Given the description of an element on the screen output the (x, y) to click on. 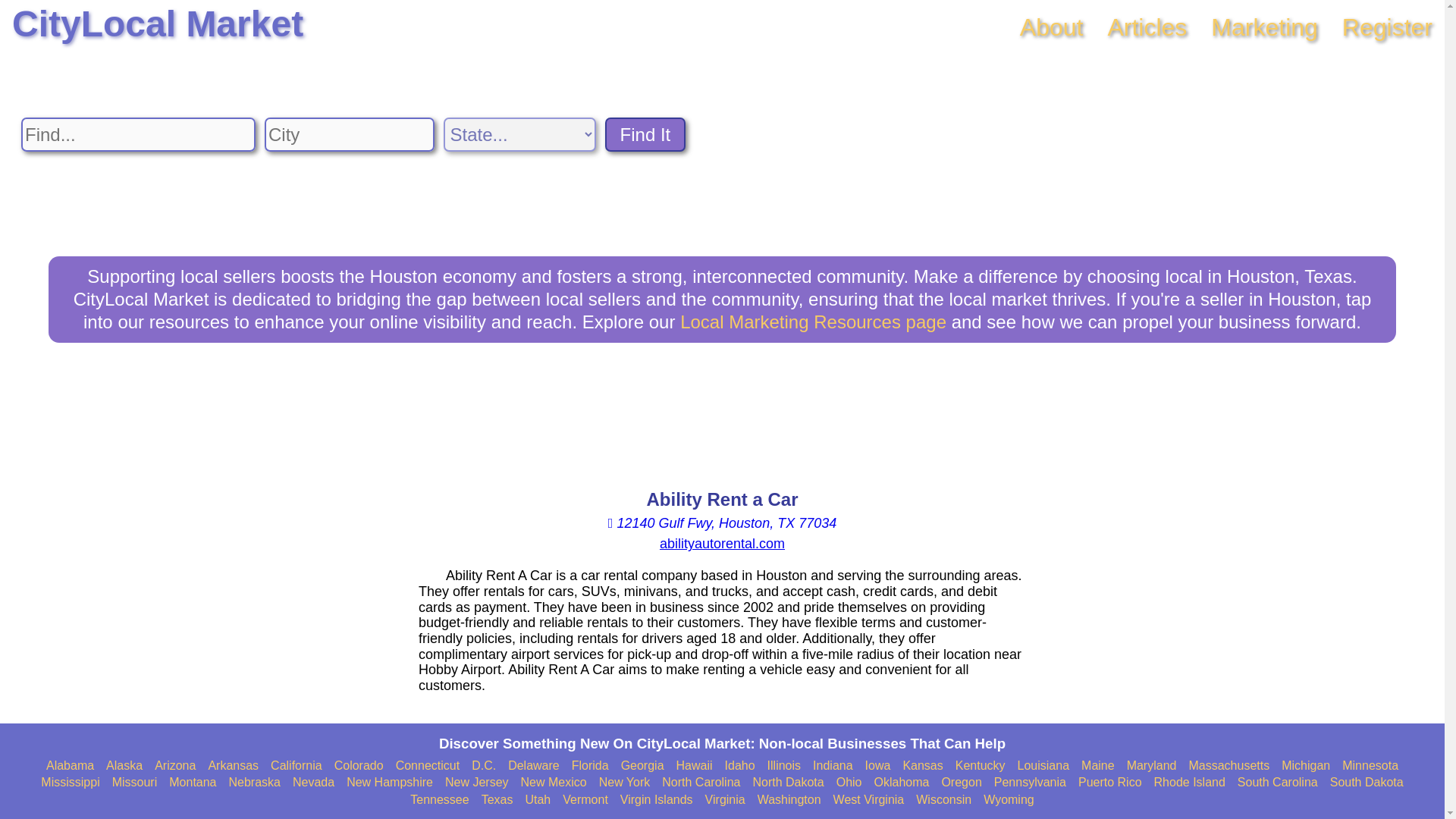
Nevada (313, 782)
Marketing (1264, 27)
Arkansas (233, 766)
Kansas (922, 766)
Delaware (533, 766)
Colorado (359, 766)
New Hampshire (389, 782)
Find Businesses in Colorado (359, 766)
Indiana (832, 766)
View on Google Maps (721, 523)
Find It (645, 134)
D.C. (483, 766)
Nebraska (254, 782)
Find Businesses in D.C. (483, 766)
About CityLocal Market (1051, 27)
